Given the description of an element on the screen output the (x, y) to click on. 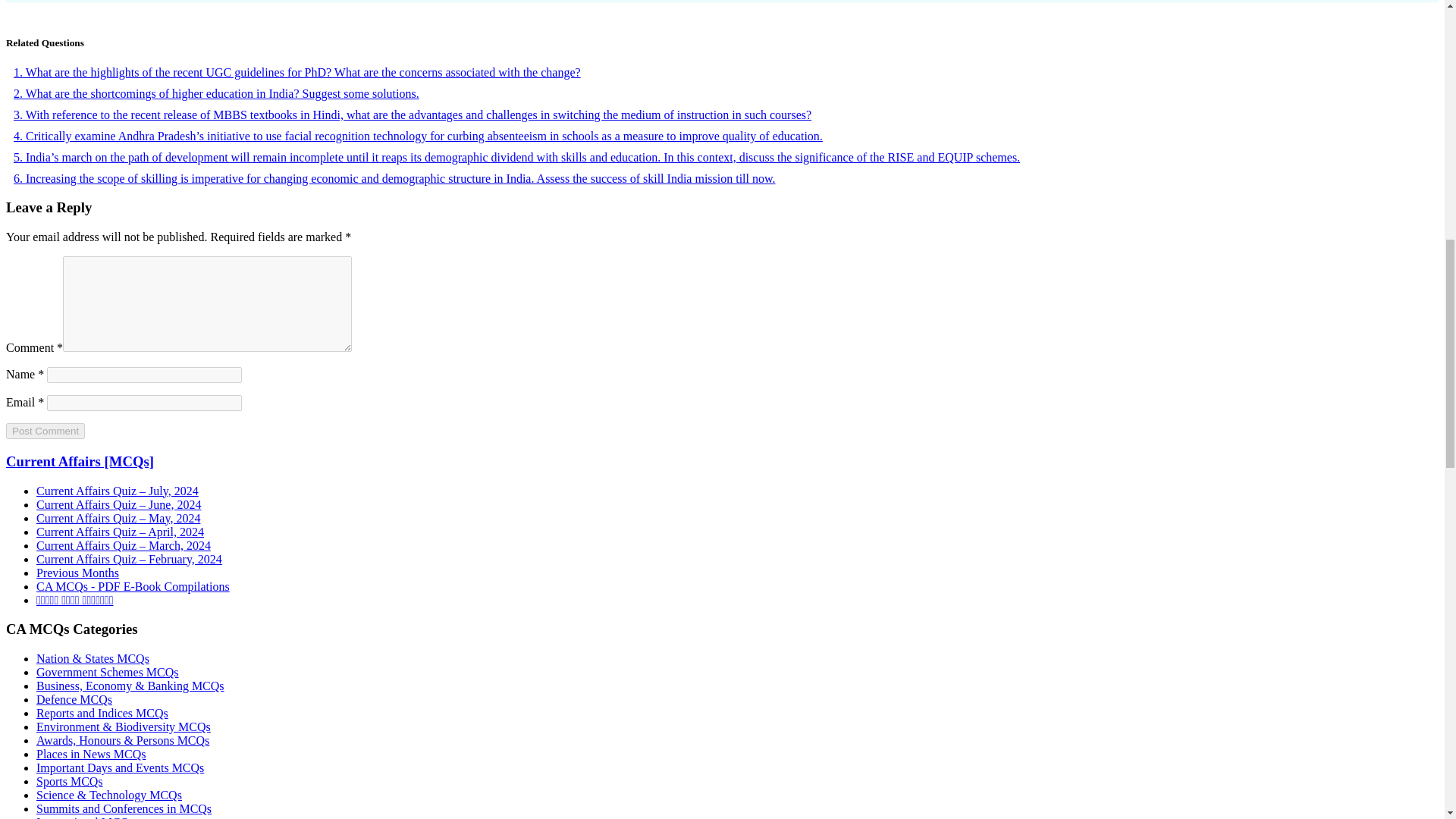
Reports and Indices MCQs (102, 712)
Government Schemes MCQs (107, 671)
CA MCQs - PDF E-Book Compilations (133, 585)
Post Comment (44, 430)
Defence MCQs (74, 698)
Previous Months (77, 572)
Post Comment (44, 430)
